Given the description of an element on the screen output the (x, y) to click on. 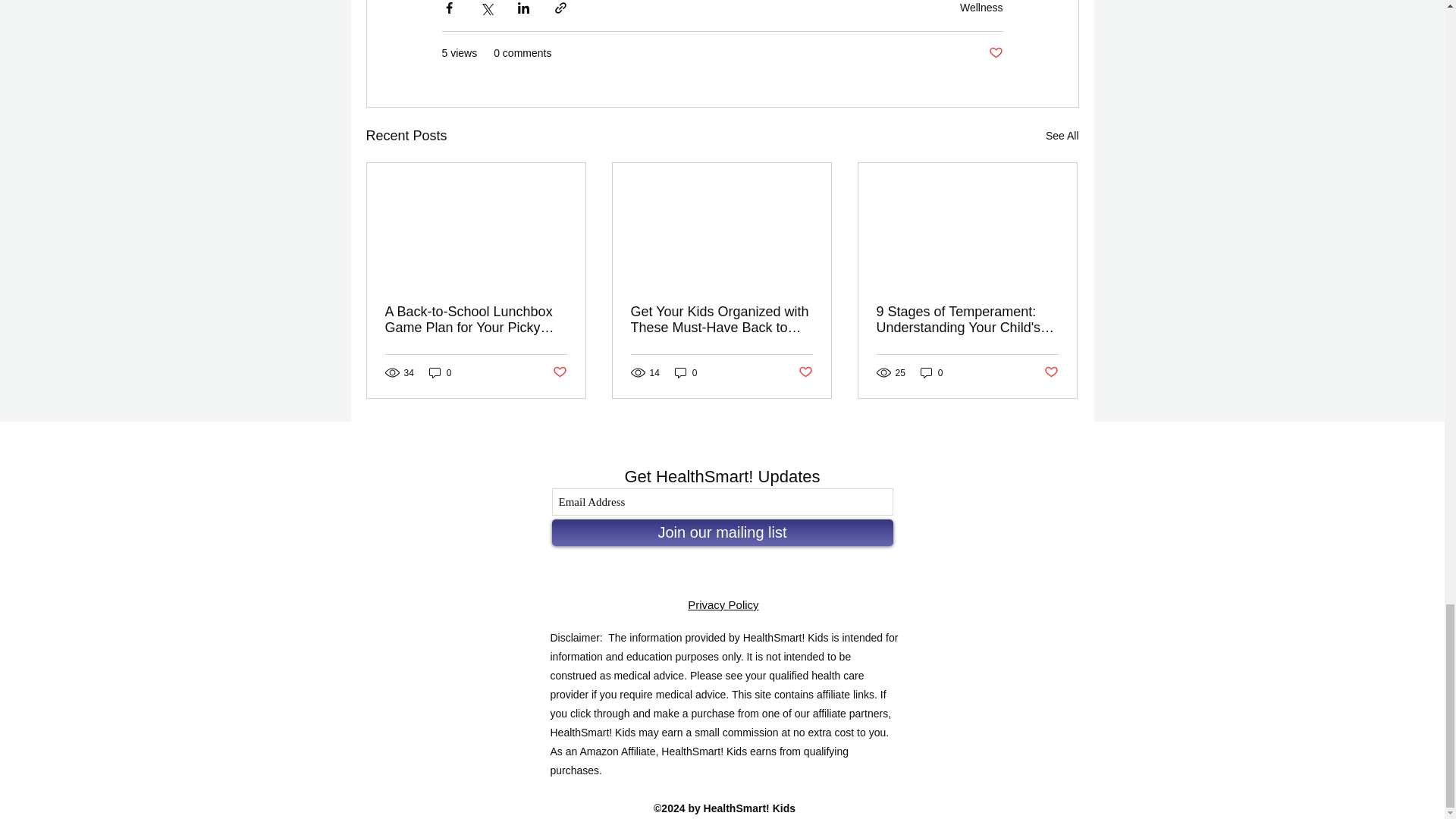
Post not marked as liked (995, 53)
Wellness (981, 7)
0 (685, 372)
Post not marked as liked (804, 372)
0 (440, 372)
See All (1061, 136)
Post not marked as liked (558, 372)
A Back-to-School Lunchbox Game Plan for Your Picky Eater (476, 319)
